Given the description of an element on the screen output the (x, y) to click on. 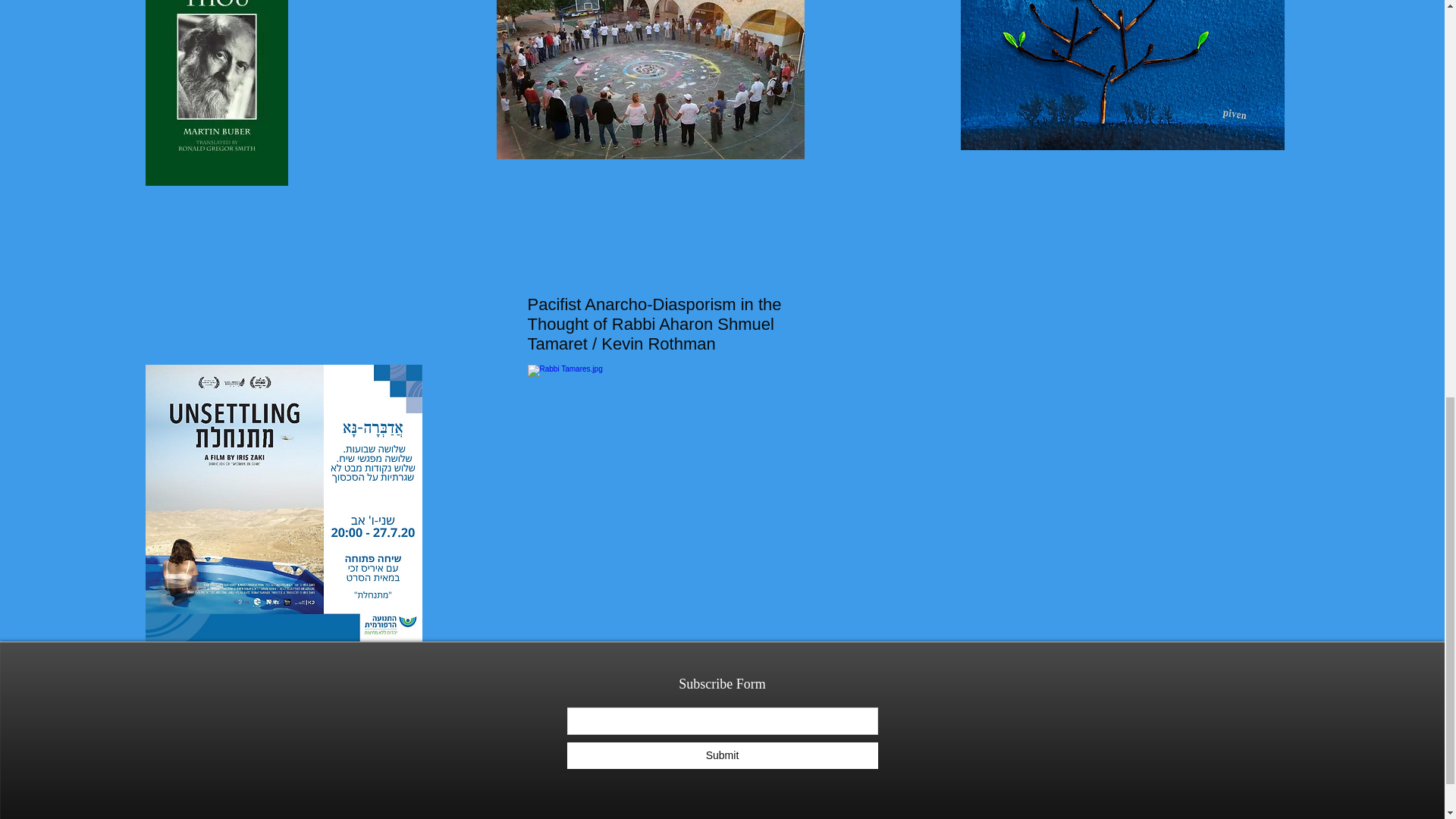
Submit (722, 755)
